Given the description of an element on the screen output the (x, y) to click on. 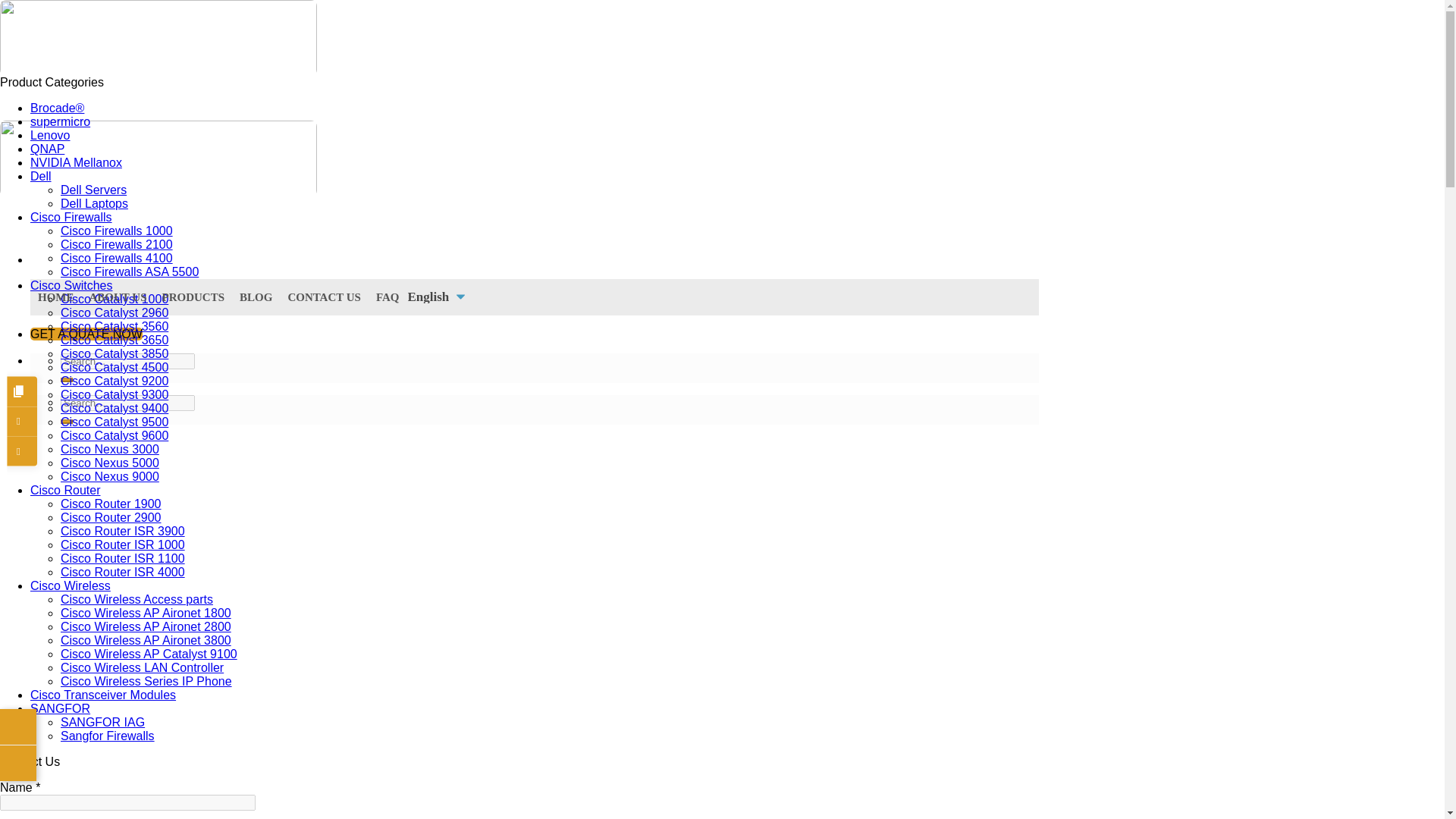
ABOUT US (117, 297)
PRODUCTS (193, 297)
HOME (55, 297)
